Given the description of an element on the screen output the (x, y) to click on. 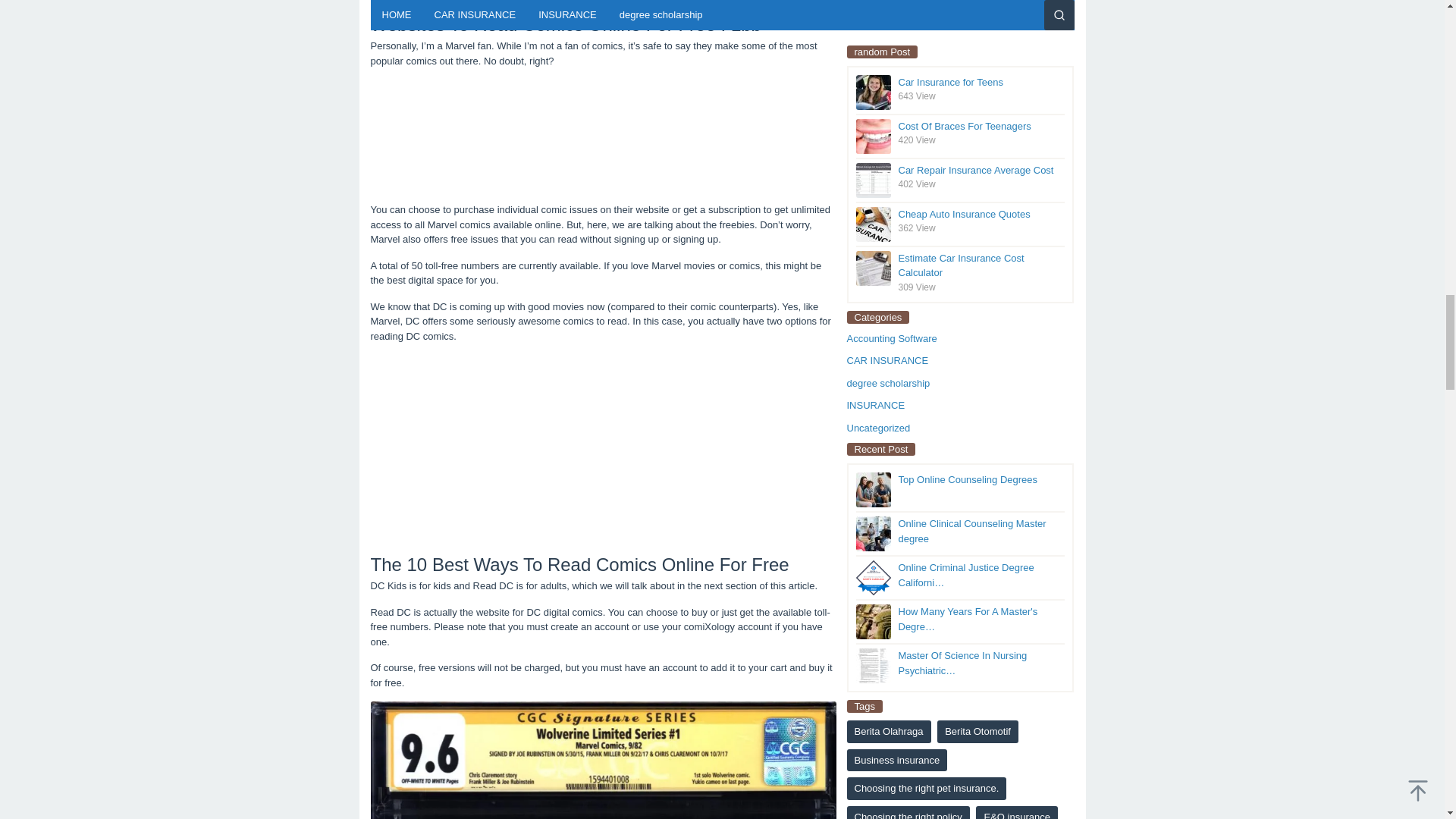
Where To Buy Cheap Comic Books Online (602, 760)
